Given the description of an element on the screen output the (x, y) to click on. 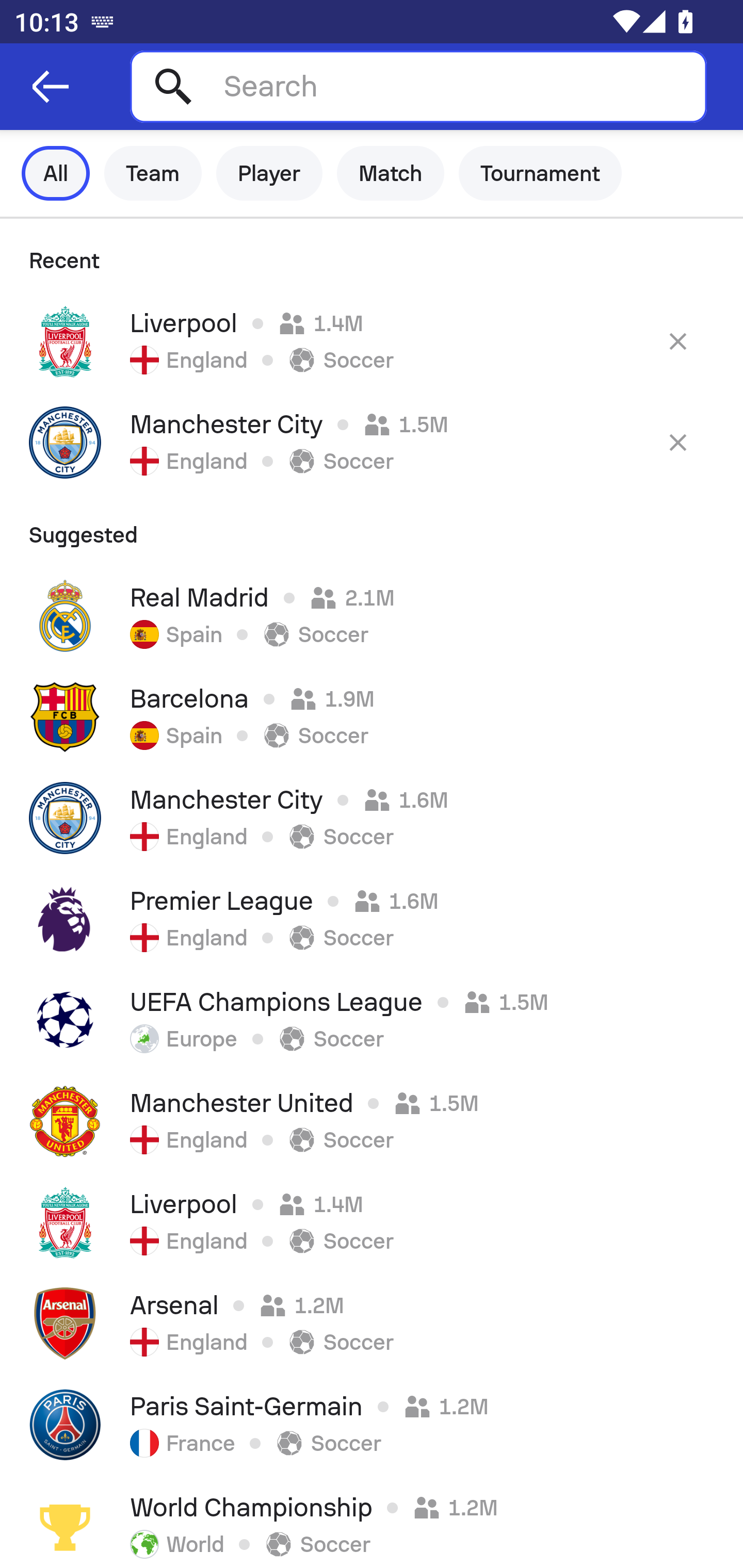
Navigate up (50, 86)
Search (418, 86)
All (55, 172)
Team (152, 172)
Player (268, 172)
Match (390, 172)
Tournament (540, 172)
Recent (371, 254)
Liverpool 1.4M England Soccer (371, 341)
Manchester City 1.5M England Soccer (371, 442)
Suggested (371, 529)
Real Madrid 2.1M Spain Soccer (371, 616)
Barcelona 1.9M Spain Soccer (371, 716)
Manchester City 1.6M England Soccer (371, 817)
Premier League 1.6M England Soccer (371, 918)
UEFA Champions League 1.5M Europe Soccer (371, 1019)
Manchester United 1.5M England Soccer (371, 1120)
Liverpool 1.4M England Soccer (371, 1222)
Arsenal 1.2M England Soccer (371, 1323)
Paris Saint-Germain 1.2M France Soccer (371, 1424)
World Championship 1.2M World Soccer (371, 1521)
